Given the description of an element on the screen output the (x, y) to click on. 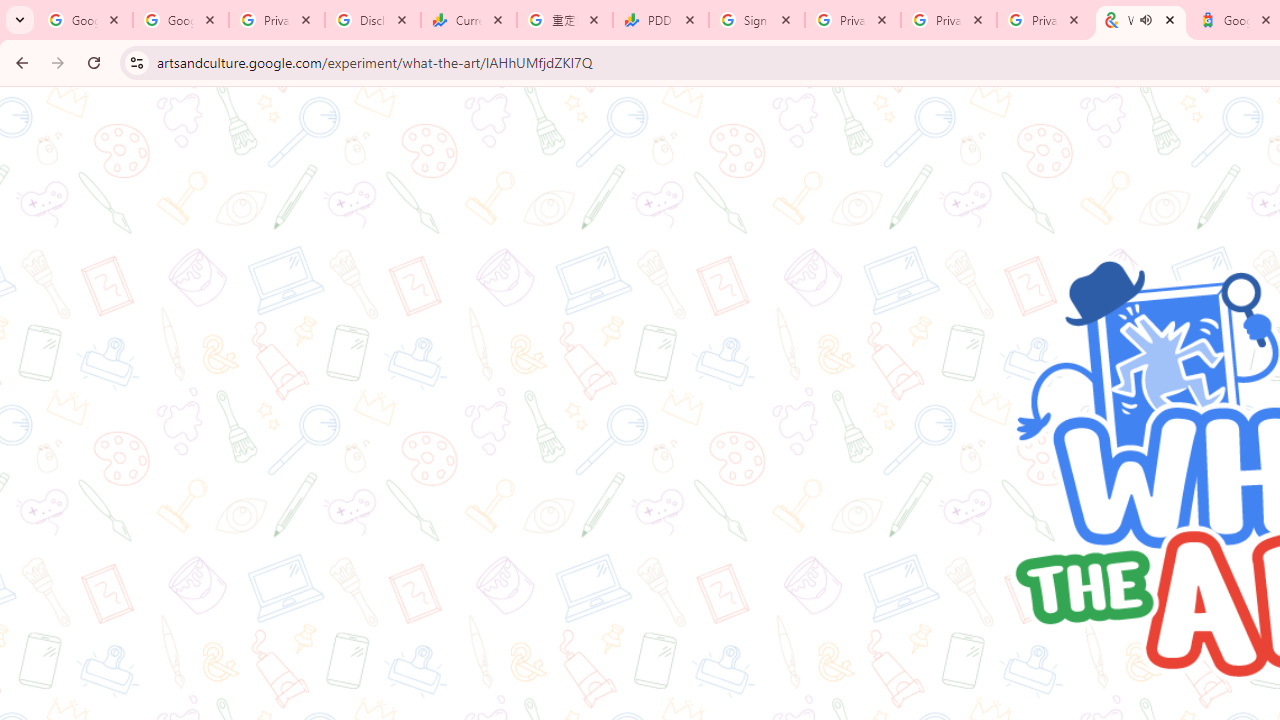
PDD Holdings Inc - ADR (PDD) Price & News - Google Finance (661, 20)
Privacy Checkup (949, 20)
Sign in - Google Accounts (757, 20)
